Given the description of an element on the screen output the (x, y) to click on. 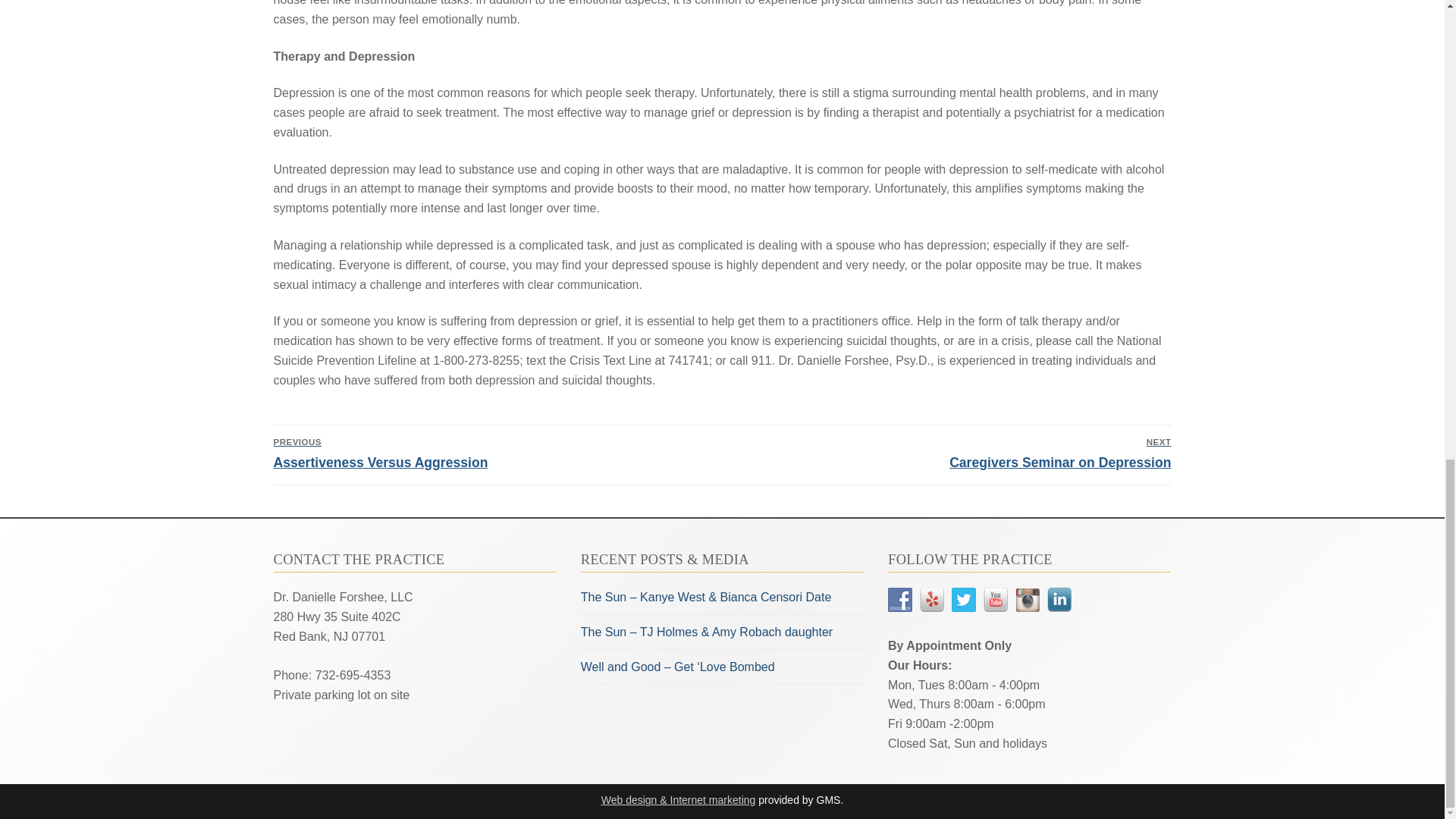
Follow Us on YouTube (493, 453)
Follow Us on Instagram (950, 453)
Follow Us on LinkedIn (995, 599)
Follow Us on Twitter (1026, 599)
Follow Us on Yelp (1058, 599)
Follow Us on Facebook (963, 599)
